Given the description of an element on the screen output the (x, y) to click on. 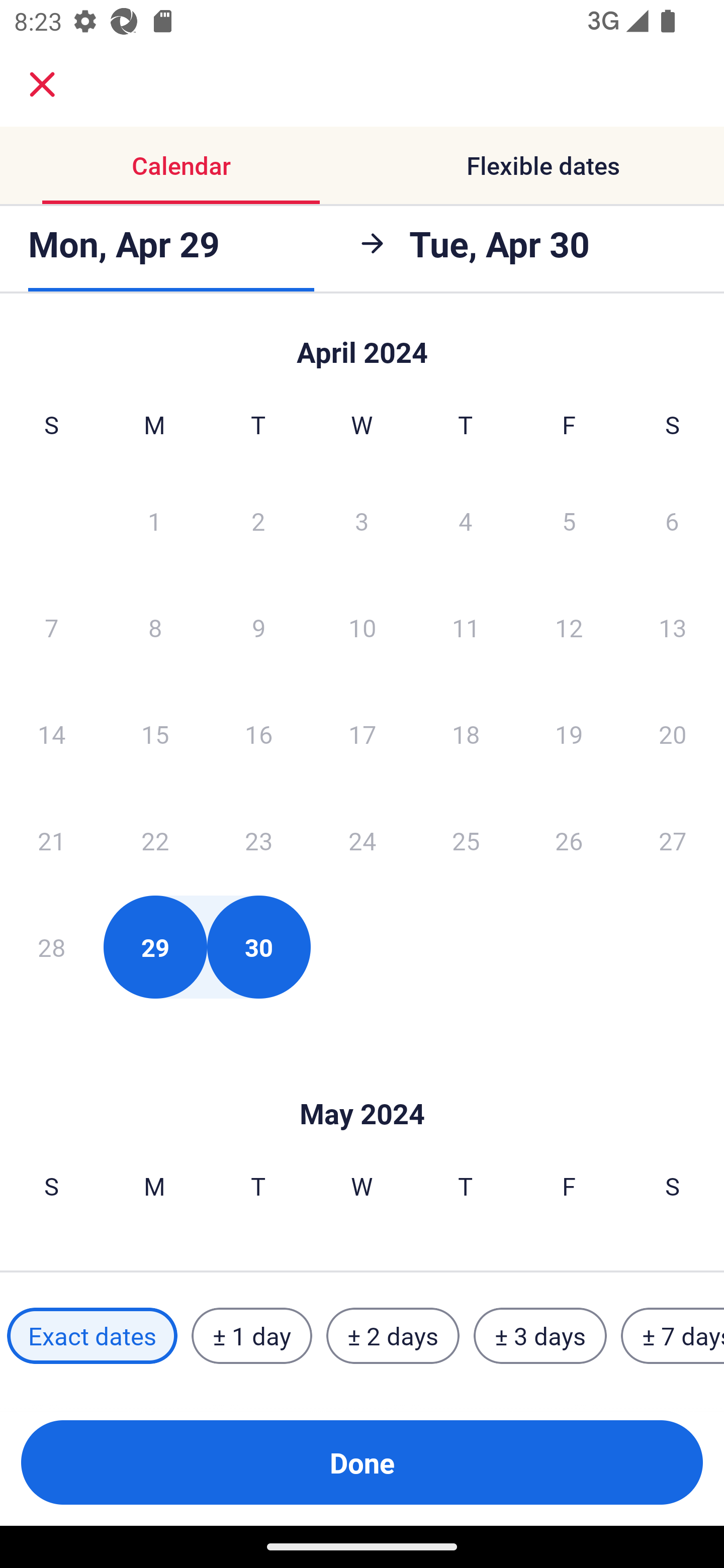
close. (42, 84)
Flexible dates (542, 164)
Skip to Done (362, 343)
1 Monday, April 1, 2024 (154, 520)
2 Tuesday, April 2, 2024 (257, 520)
3 Wednesday, April 3, 2024 (361, 520)
4 Thursday, April 4, 2024 (465, 520)
5 Friday, April 5, 2024 (568, 520)
6 Saturday, April 6, 2024 (672, 520)
7 Sunday, April 7, 2024 (51, 626)
8 Monday, April 8, 2024 (155, 626)
9 Tuesday, April 9, 2024 (258, 626)
10 Wednesday, April 10, 2024 (362, 626)
11 Thursday, April 11, 2024 (465, 626)
12 Friday, April 12, 2024 (569, 626)
13 Saturday, April 13, 2024 (672, 626)
14 Sunday, April 14, 2024 (51, 733)
15 Monday, April 15, 2024 (155, 733)
16 Tuesday, April 16, 2024 (258, 733)
17 Wednesday, April 17, 2024 (362, 733)
18 Thursday, April 18, 2024 (465, 733)
19 Friday, April 19, 2024 (569, 733)
20 Saturday, April 20, 2024 (672, 733)
21 Sunday, April 21, 2024 (51, 840)
22 Monday, April 22, 2024 (155, 840)
23 Tuesday, April 23, 2024 (258, 840)
24 Wednesday, April 24, 2024 (362, 840)
25 Thursday, April 25, 2024 (465, 840)
26 Friday, April 26, 2024 (569, 840)
27 Saturday, April 27, 2024 (672, 840)
28 Sunday, April 28, 2024 (51, 946)
Skip to Done (362, 1083)
Exact dates (92, 1335)
± 1 day (251, 1335)
± 2 days (392, 1335)
± 3 days (539, 1335)
± 7 days (672, 1335)
Done (361, 1462)
